Given the description of an element on the screen output the (x, y) to click on. 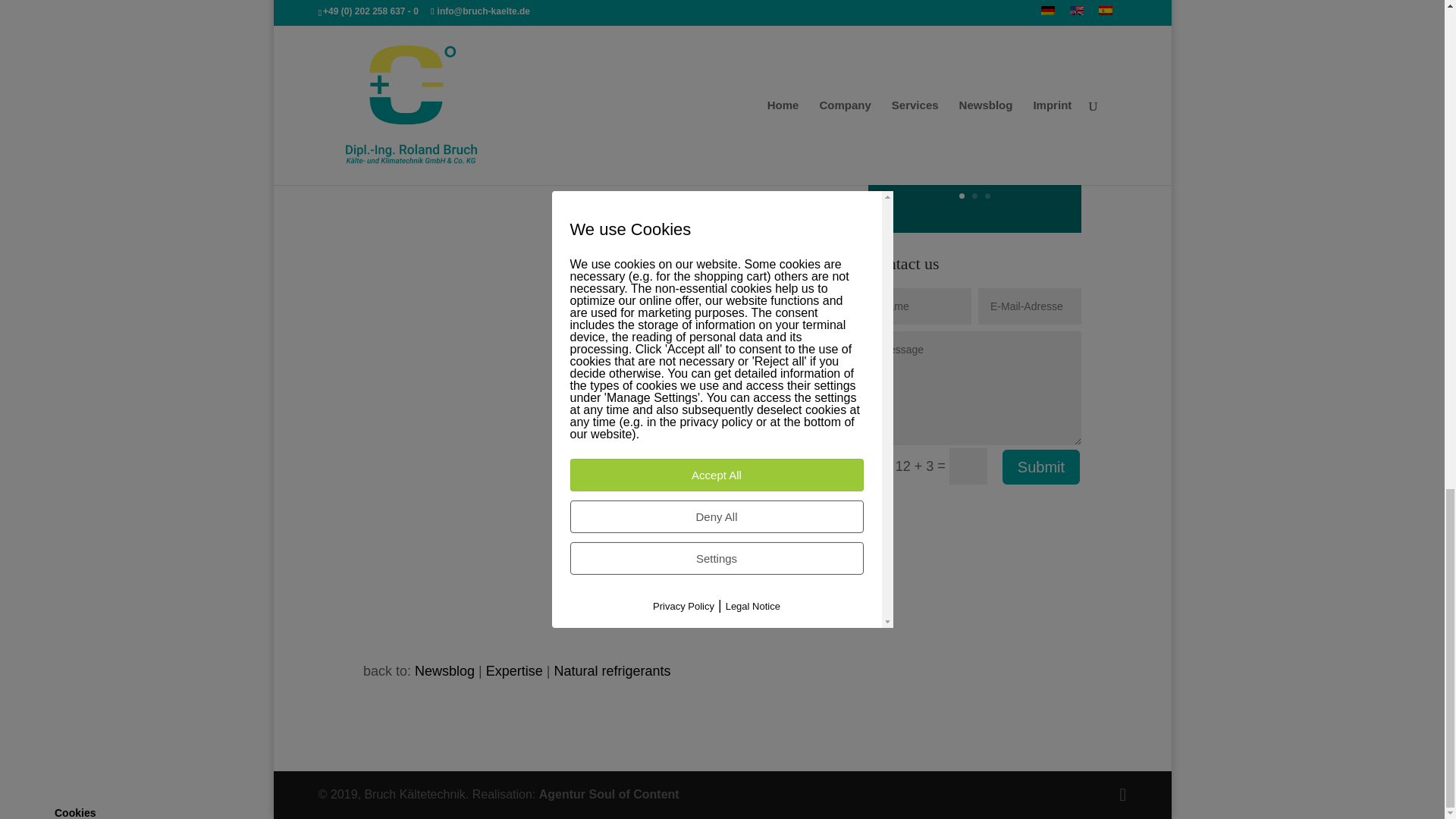
Natural refrigerants (611, 670)
Expertise (514, 670)
Submit (1041, 466)
Newsblog (444, 670)
Agentur Soul of Content (608, 793)
